Given the description of an element on the screen output the (x, y) to click on. 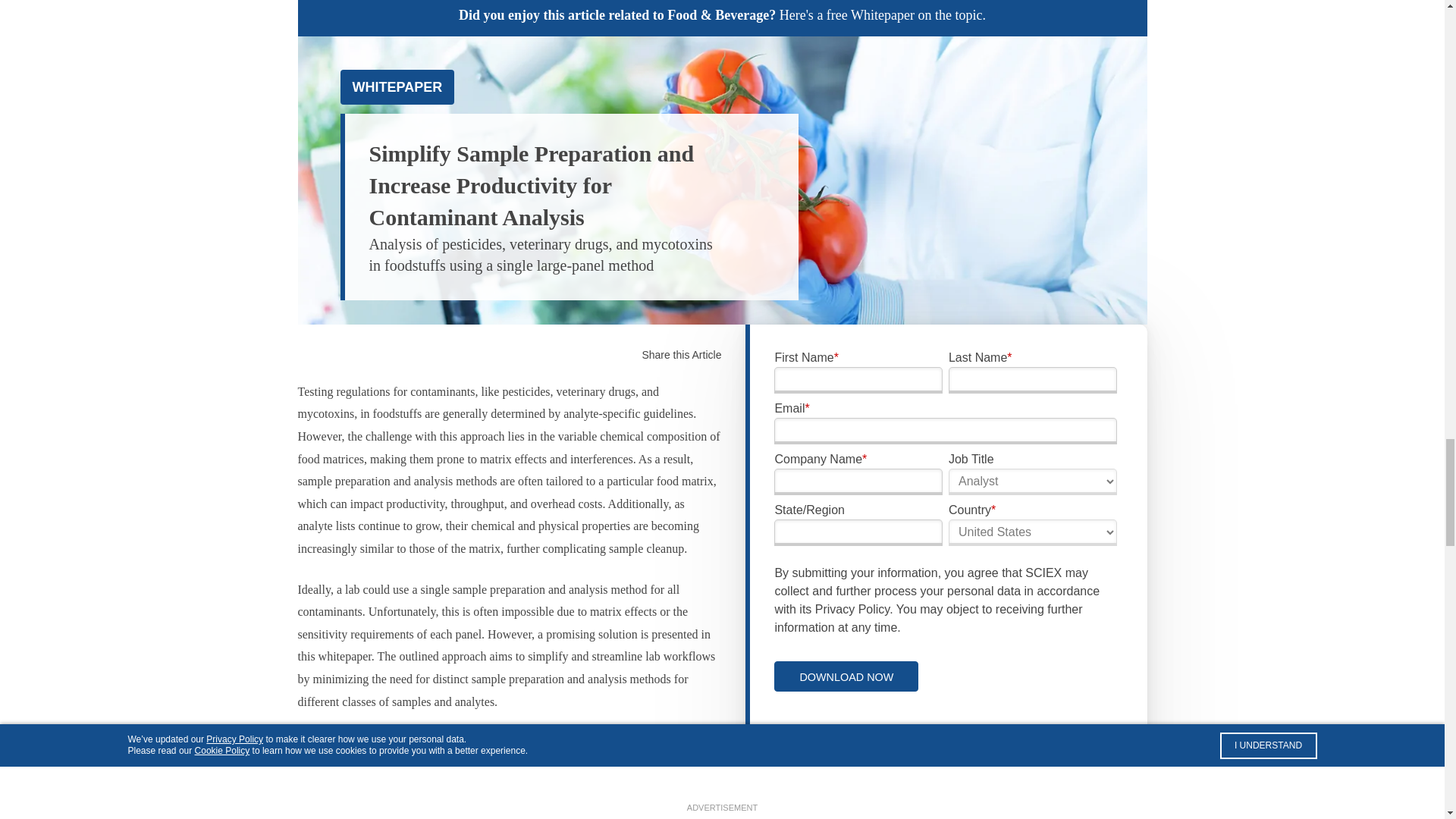
Download Now (846, 675)
